Given the description of an element on the screen output the (x, y) to click on. 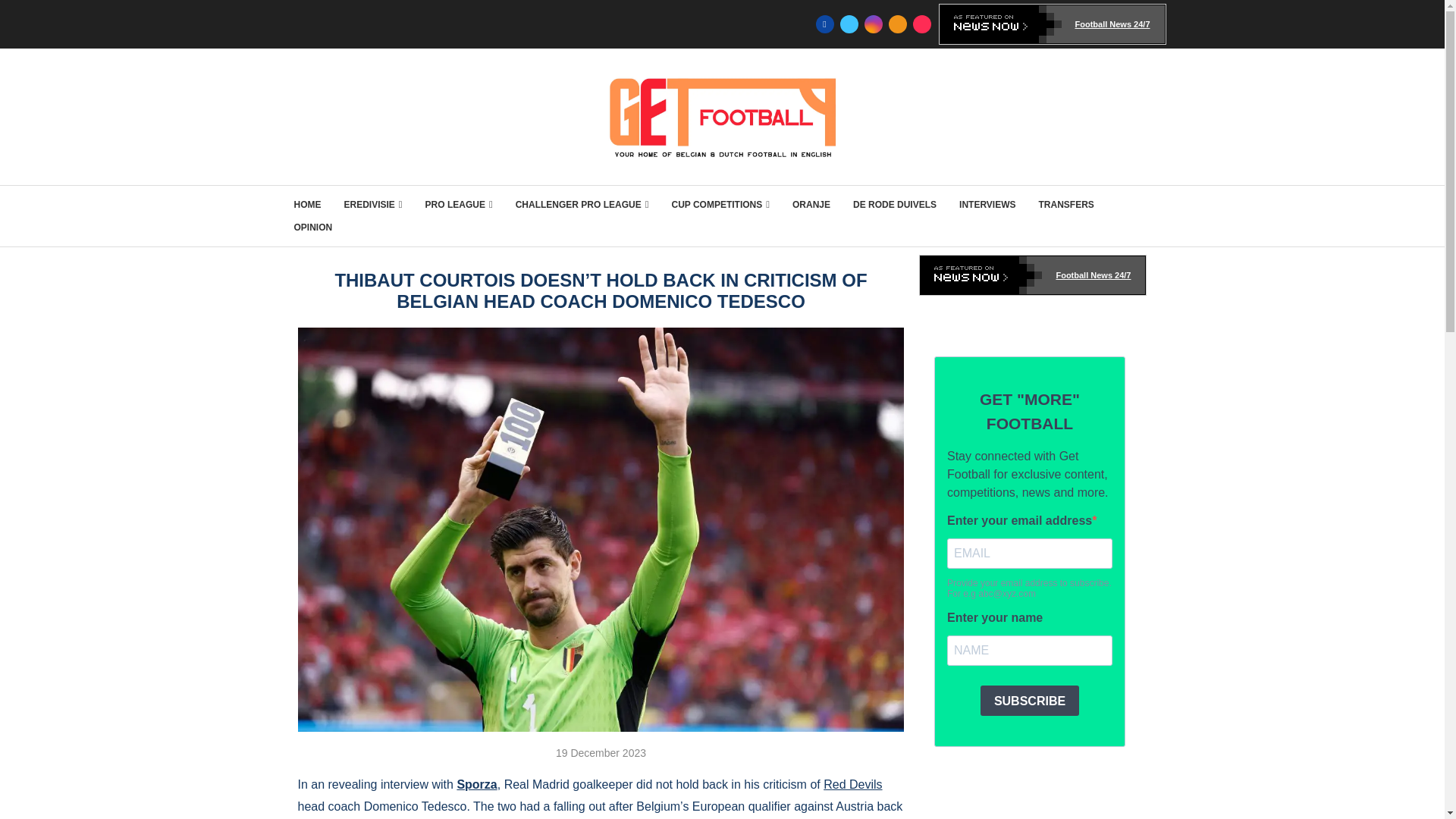
Click here for more Football news from NewsNow (1032, 274)
PRO LEAGUE (459, 204)
EREDIVISIE (373, 204)
Click here for more Football news from NewsNow (1052, 24)
HOME (307, 204)
